Given the description of an element on the screen output the (x, y) to click on. 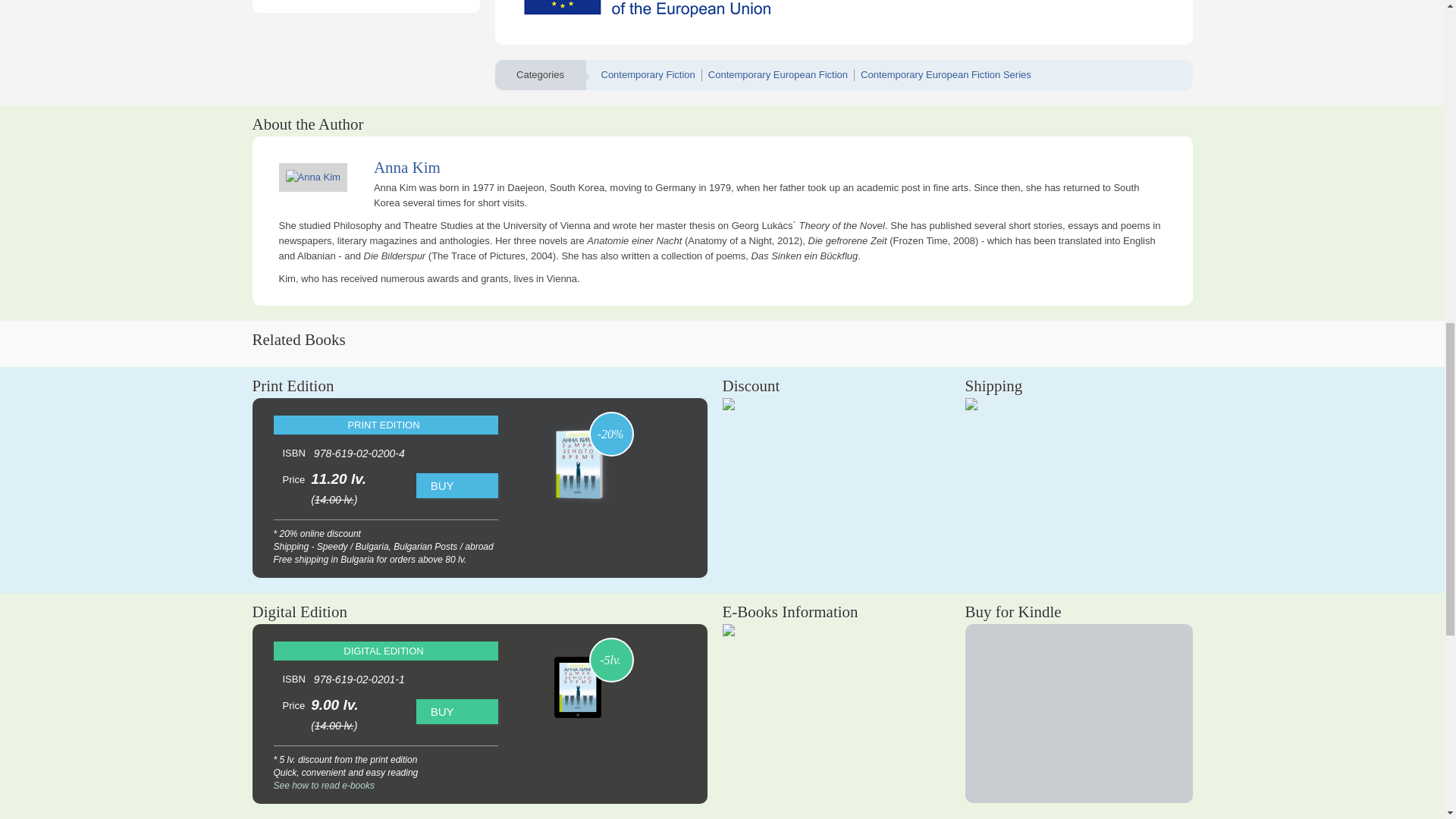
Creative Europe Programme (668, 10)
